Given the description of an element on the screen output the (x, y) to click on. 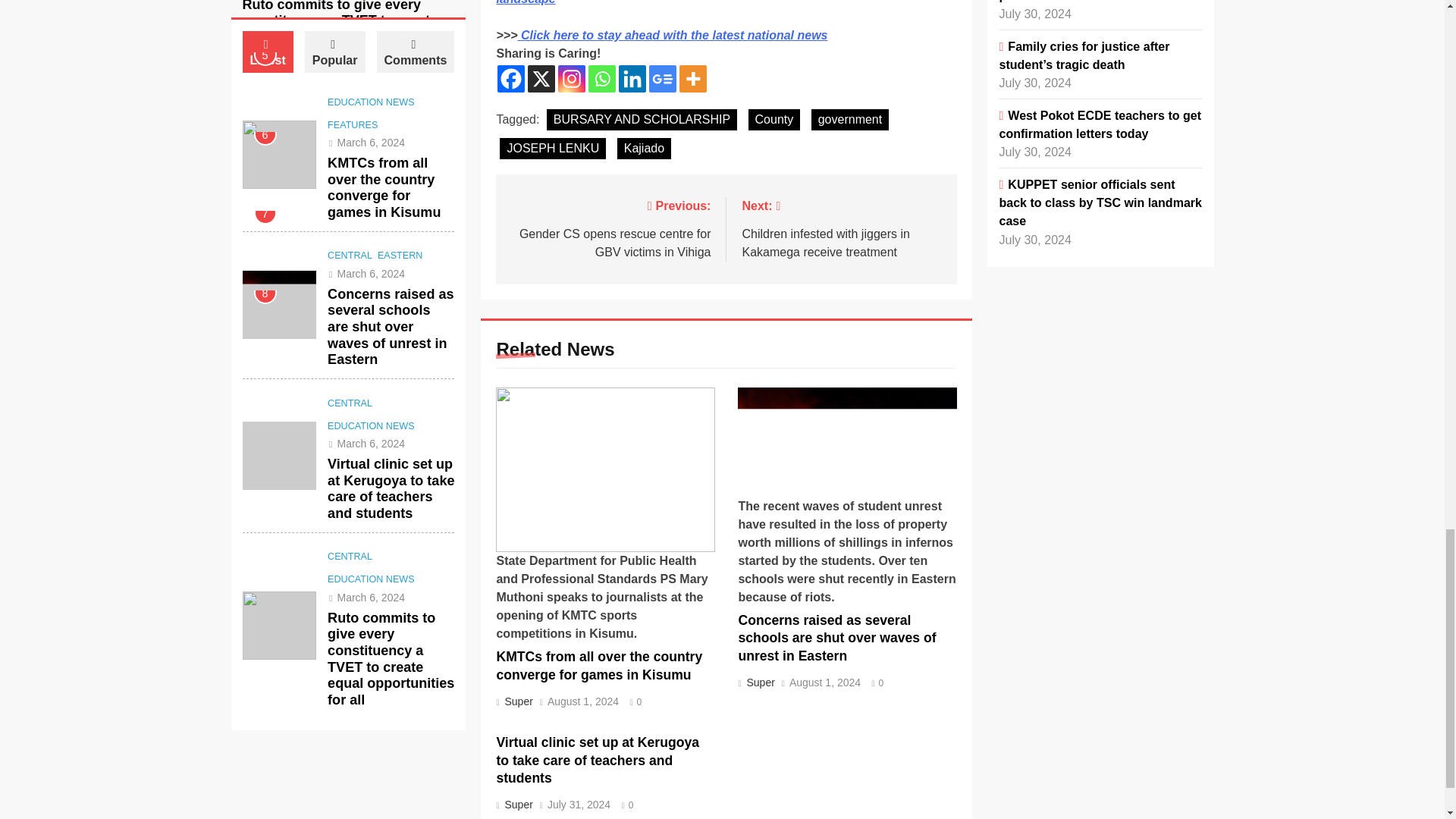
Whatsapp (601, 78)
Linkedin (632, 78)
Instagram (571, 78)
Google News (663, 78)
Facebook (510, 78)
X (540, 78)
More (692, 78)
